Given the description of an element on the screen output the (x, y) to click on. 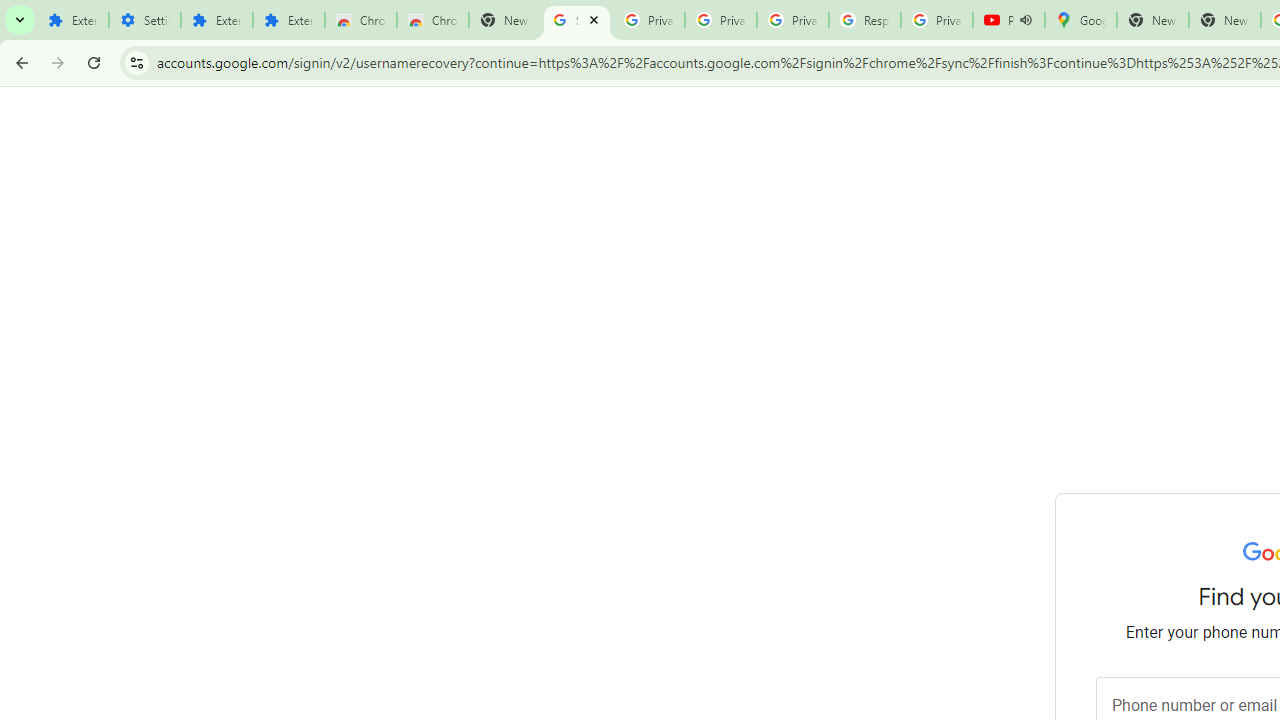
Extensions (216, 20)
New Tab (1224, 20)
Google Maps (1080, 20)
Personalized AI for you | Gemini - YouTube - Audio playing (1008, 20)
Chrome Web Store (360, 20)
Chrome Web Store - Themes (432, 20)
